Given the description of an element on the screen output the (x, y) to click on. 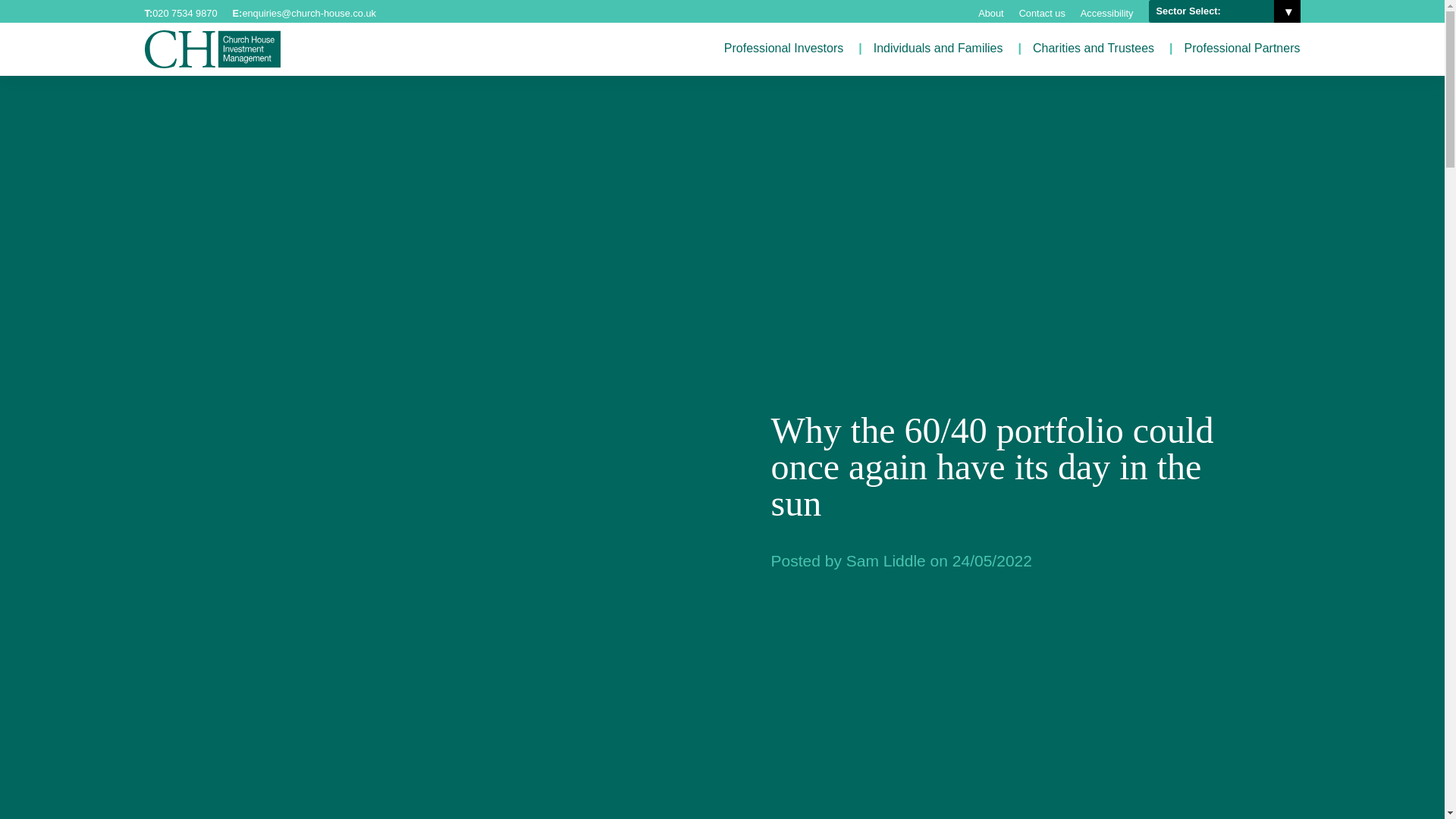
Link to: Charities and Trustees (1093, 47)
About (990, 12)
020 7534 9870 (184, 12)
Accessibility (1107, 12)
Professional Investors (783, 47)
Charities and Trustees (1093, 47)
Link to: Professional Partners (1242, 47)
Professional Partners (1242, 47)
Contact us (1042, 12)
Link to: Individuals and Families (938, 47)
